Given the description of an element on the screen output the (x, y) to click on. 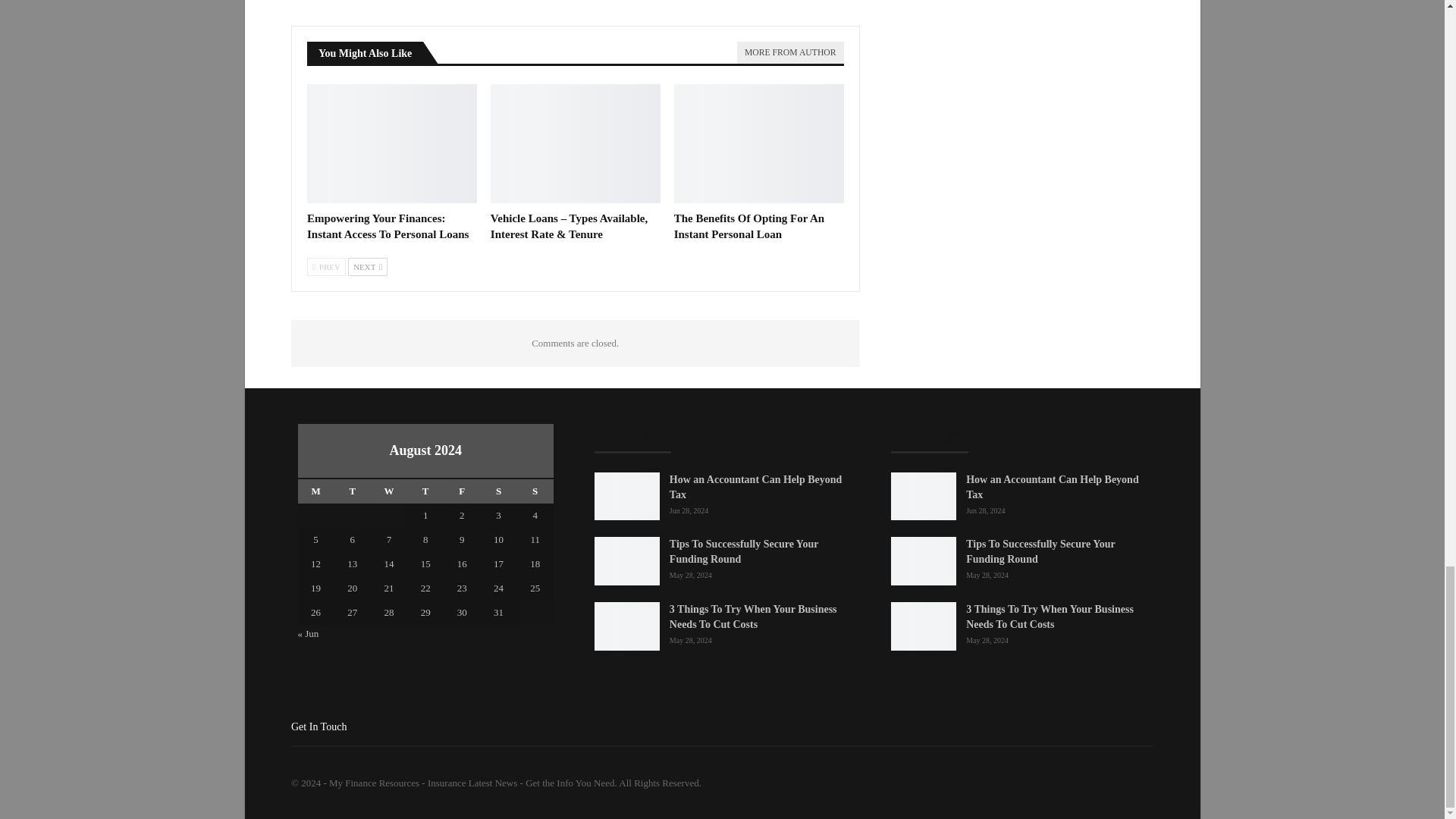
The Benefits Of Opting For An Instant Personal Loan (759, 143)
Empowering Your Finances: Instant Access To Personal Loans (392, 143)
Previous (326, 266)
Empowering Your Finances: Instant Access To Personal Loans (387, 226)
You Might Also Like (365, 51)
Next (367, 266)
MORE FROM AUTHOR (788, 52)
The Benefits Of Opting For An Instant Personal Loan (749, 226)
